Given the description of an element on the screen output the (x, y) to click on. 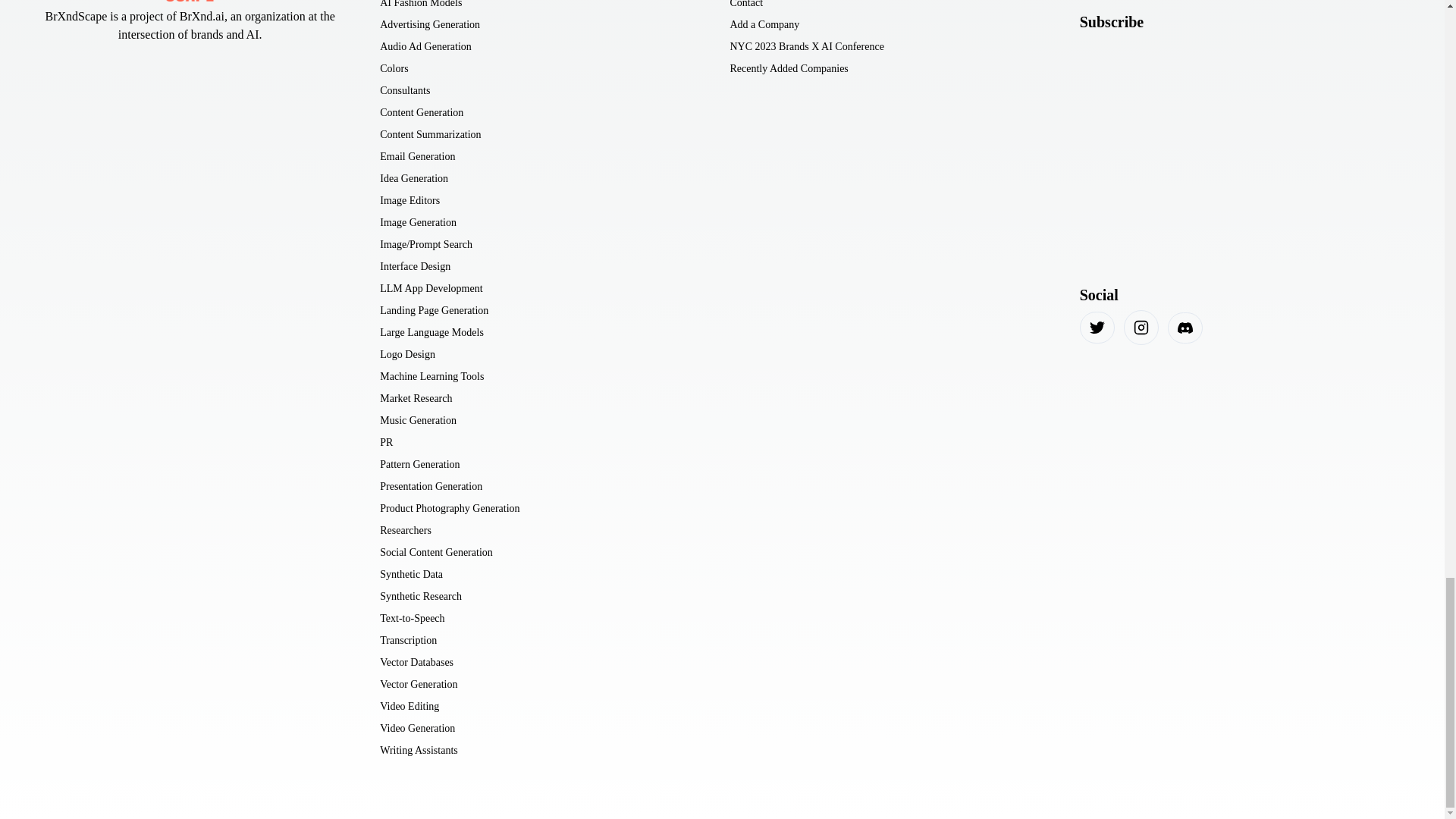
Consultants (404, 90)
Colors (393, 68)
Audio Ad Generation (425, 46)
Advertising Generation (430, 24)
Content Summarization (430, 134)
AI Fashion Models (420, 5)
Image Editors (409, 200)
Idea Generation (414, 178)
Content Generation (421, 112)
BrXnd.ai (201, 15)
